Given the description of an element on the screen output the (x, y) to click on. 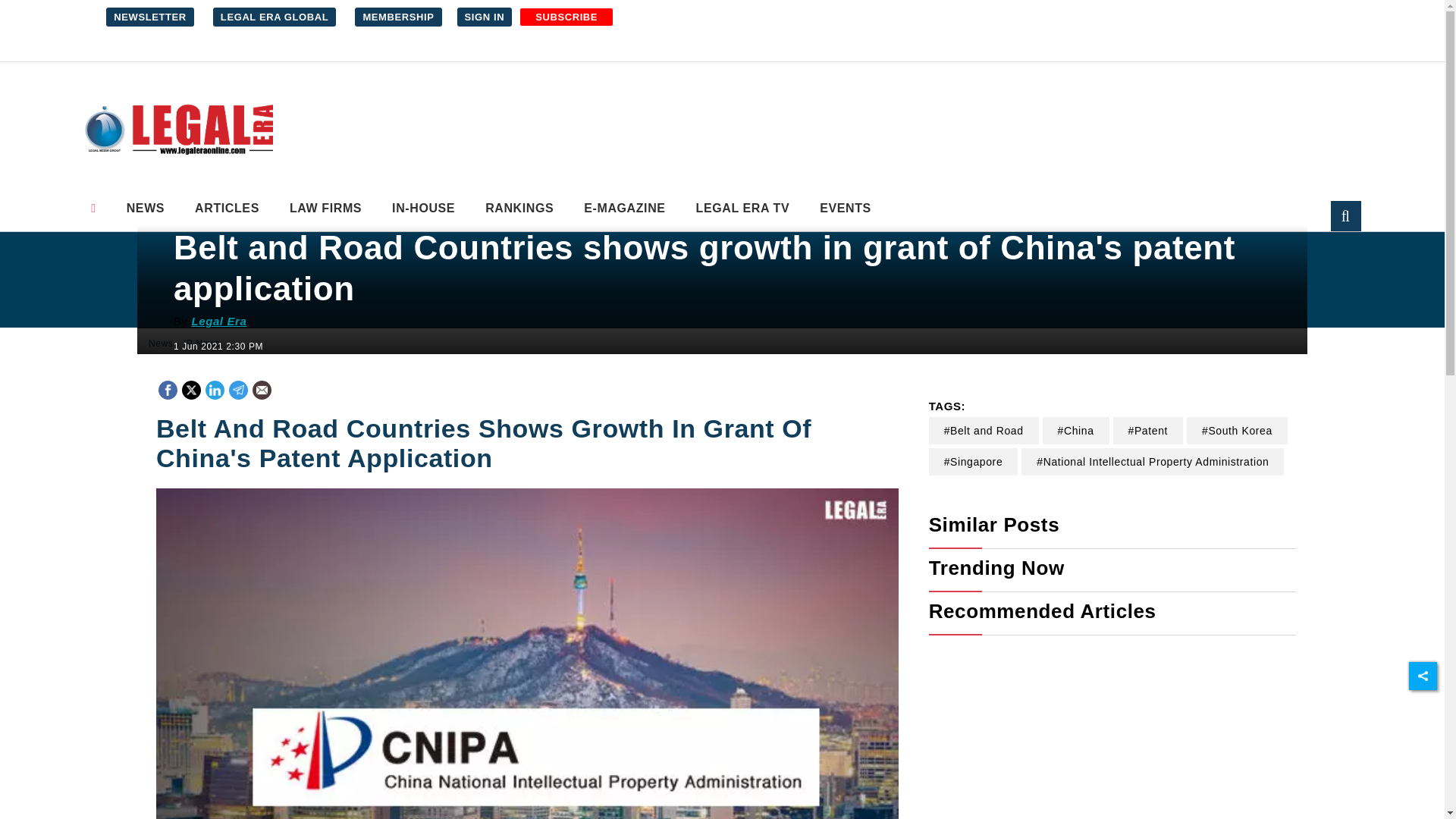
Email (260, 389)
MEMBERSHIP (398, 16)
LinkedIn (214, 388)
SUBSCRIBE (566, 16)
Share by Email (260, 391)
linkedin (215, 389)
Twitter (191, 388)
NEWSLETTER (149, 16)
LEGAL ERA GLOBAL (274, 16)
